Given the description of an element on the screen output the (x, y) to click on. 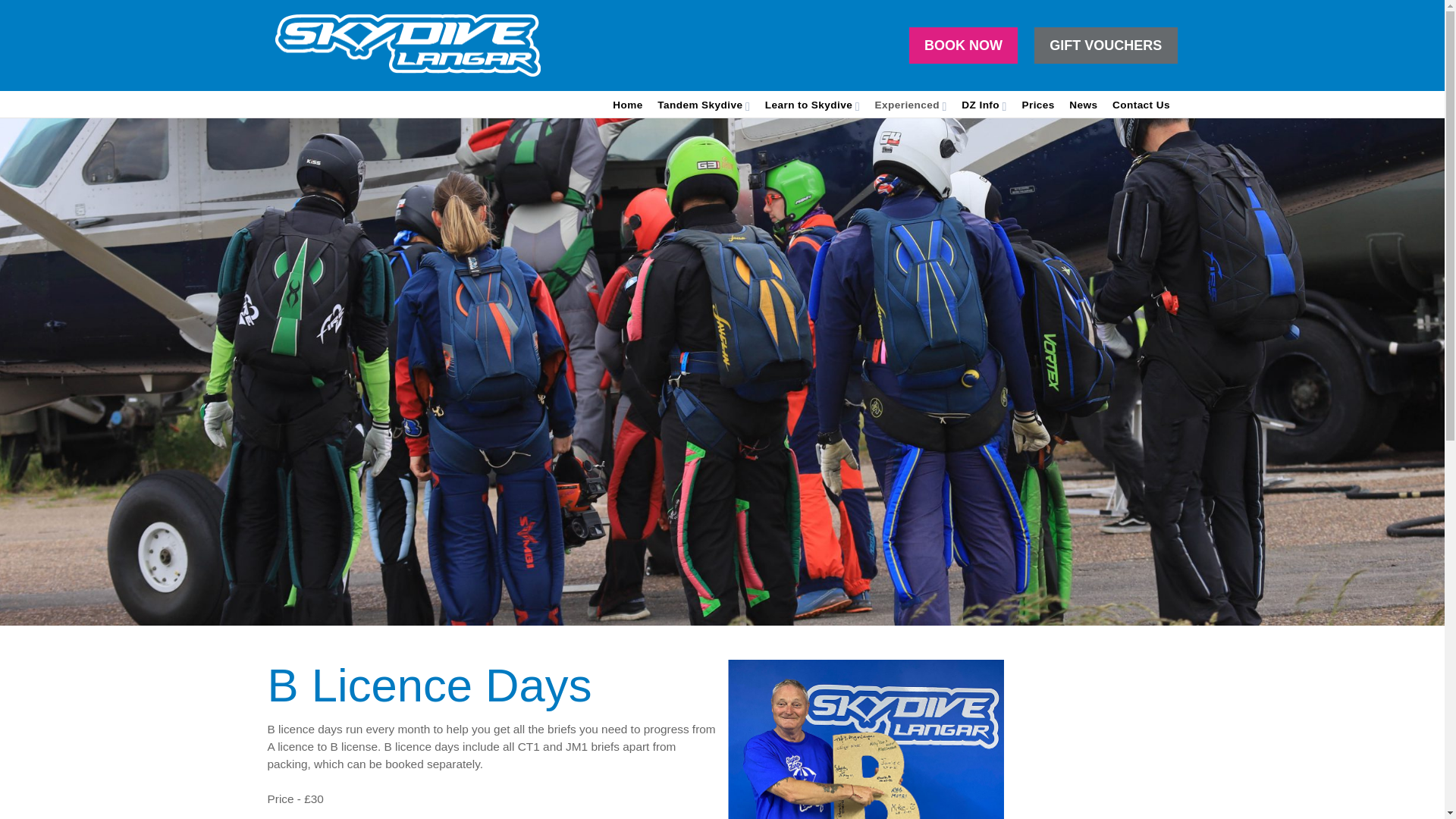
Home (627, 104)
Contact Us (1140, 104)
Prices (1037, 104)
BOOK NOW (962, 45)
Tandem Skydive (703, 104)
Learn to Skydive (812, 104)
DZ Info (983, 104)
News (1083, 104)
Experienced (911, 104)
GIFT VOUCHERS (1105, 45)
